Given the description of an element on the screen output the (x, y) to click on. 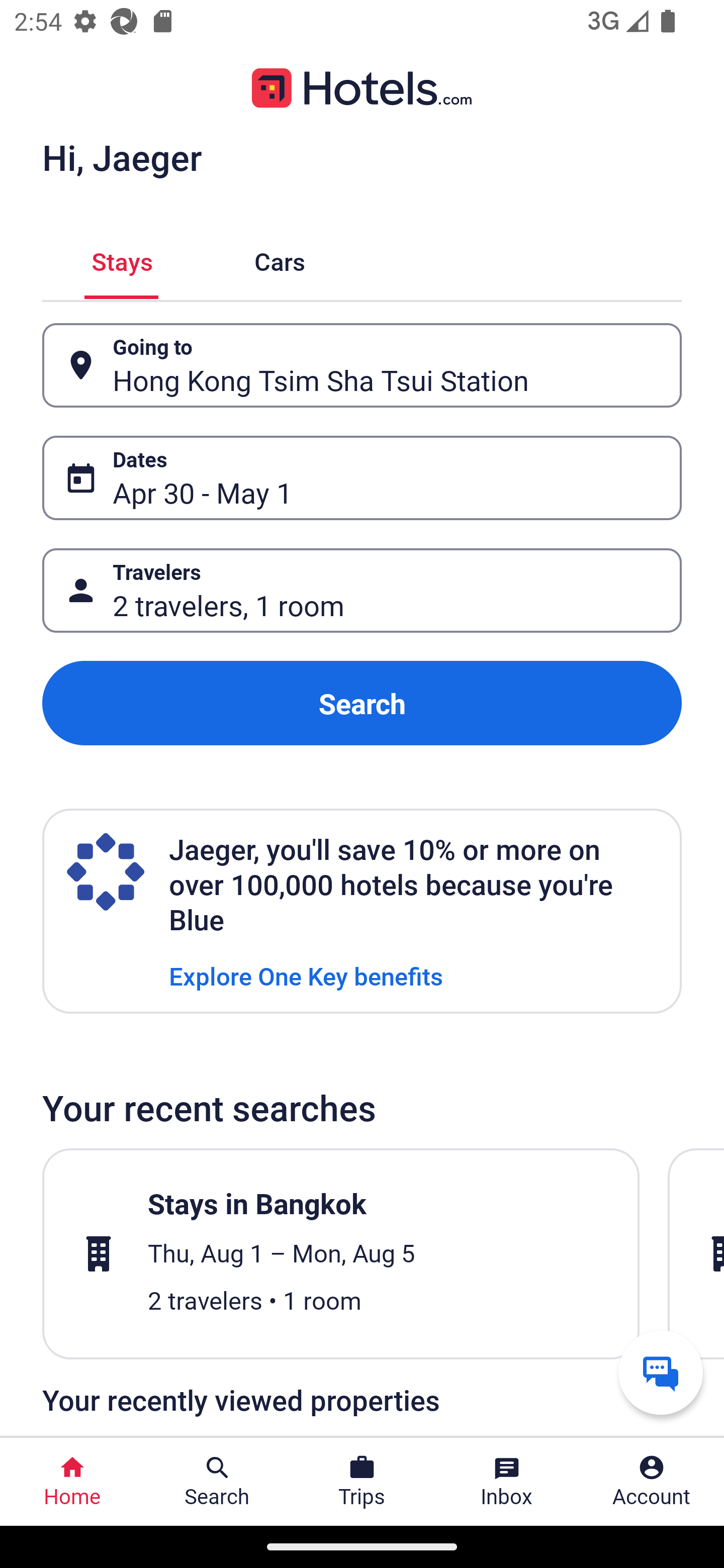
Hi, Jaeger (121, 156)
Cars (279, 259)
Going to Button Hong Kong Tsim Sha Tsui Station (361, 365)
Dates Button Apr 30 - May 1 (361, 477)
Travelers Button 2 travelers, 1 room (361, 590)
Search (361, 702)
Get help from a virtual agent (660, 1371)
Search Search Button (216, 1481)
Trips Trips Button (361, 1481)
Inbox Inbox Button (506, 1481)
Account Profile. Button (651, 1481)
